Given the description of an element on the screen output the (x, y) to click on. 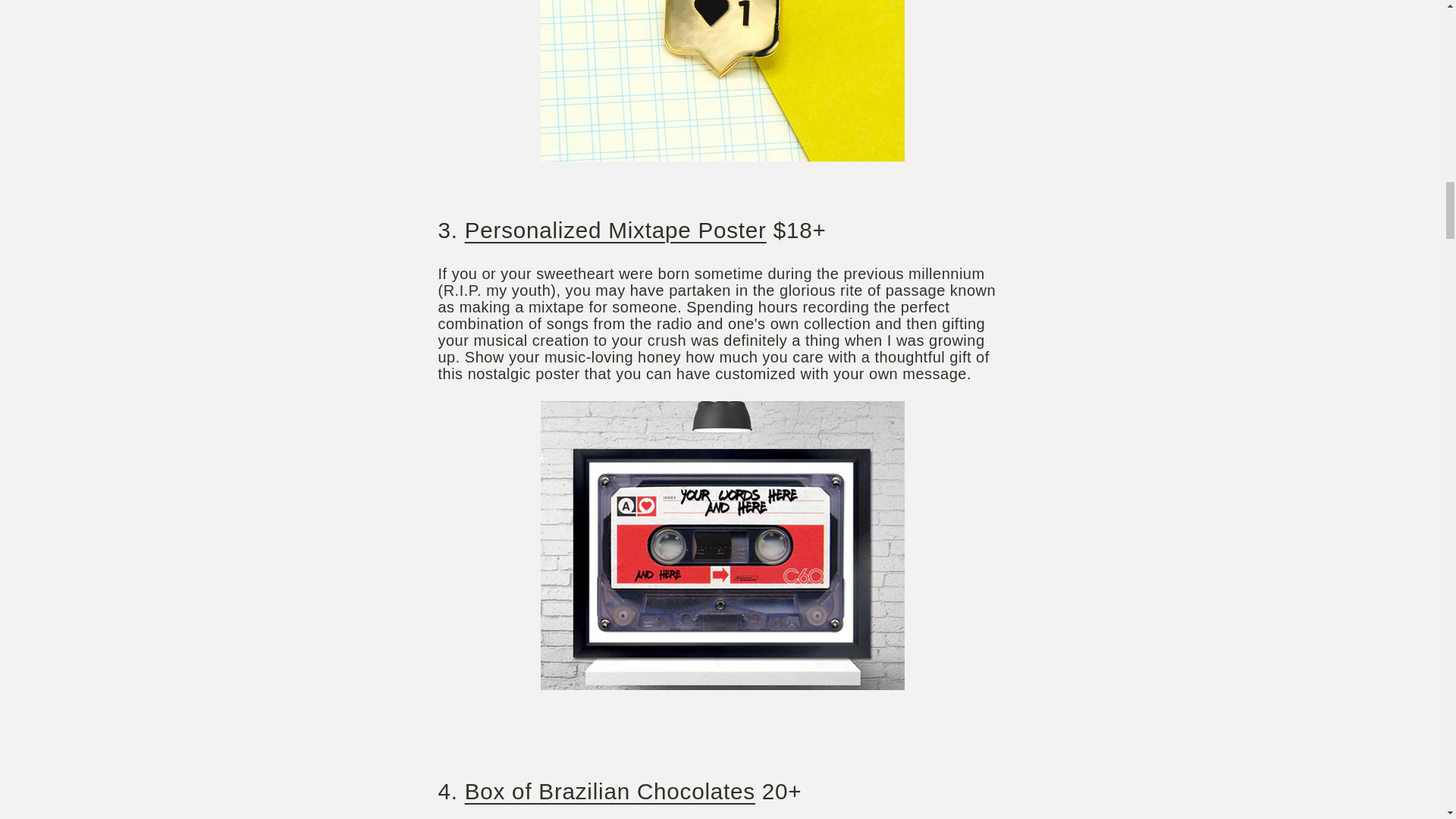
Handmade Brazilian Chocolates (609, 790)
Personal Mixtape Poster (615, 229)
